Given the description of an element on the screen output the (x, y) to click on. 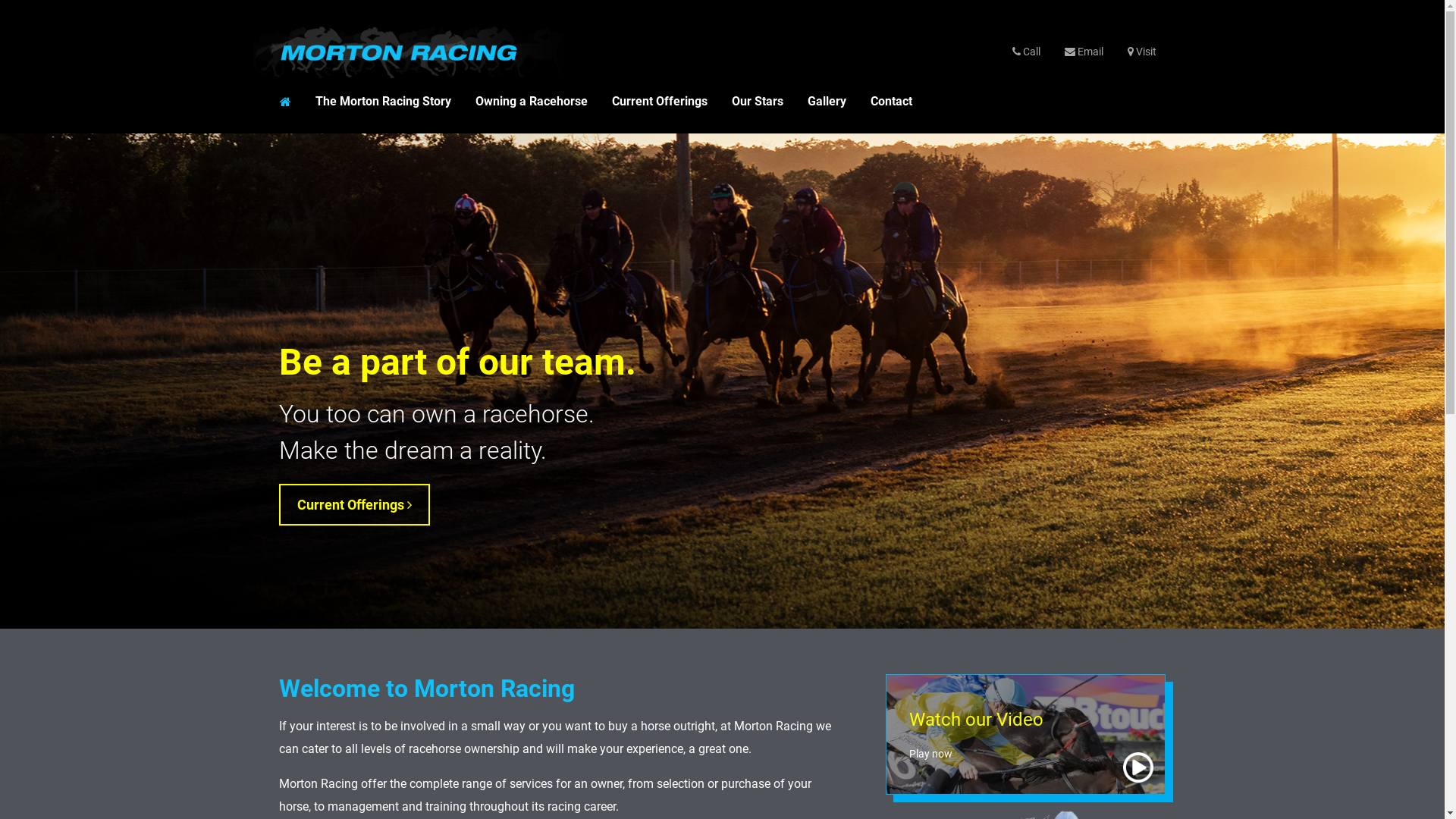
Our Stars Element type: text (756, 101)
Watch our Video
Play now Element type: text (1025, 734)
The Morton Racing Story Element type: text (383, 101)
Current Offerings Element type: text (658, 101)
Gallery Element type: text (825, 101)
Call Element type: text (1025, 51)
Current Offerings Element type: text (354, 504)
Visit Element type: text (1140, 51)
Owning a Racehorse Element type: text (530, 101)
Email Element type: text (1083, 51)
Contact Element type: text (891, 101)
